Given the description of an element on the screen output the (x, y) to click on. 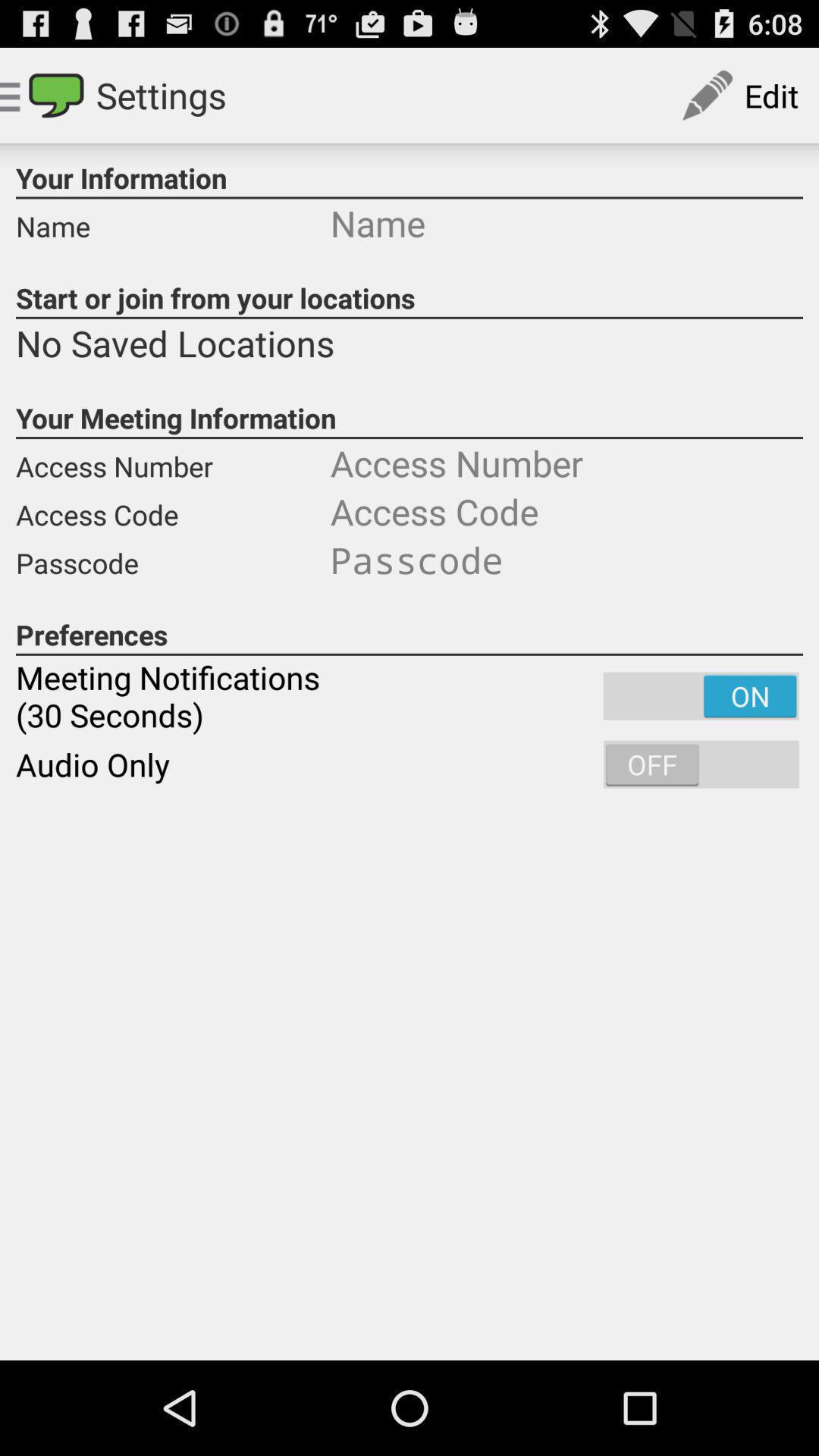
scroll to the audio only (409, 764)
